Given the description of an element on the screen output the (x, y) to click on. 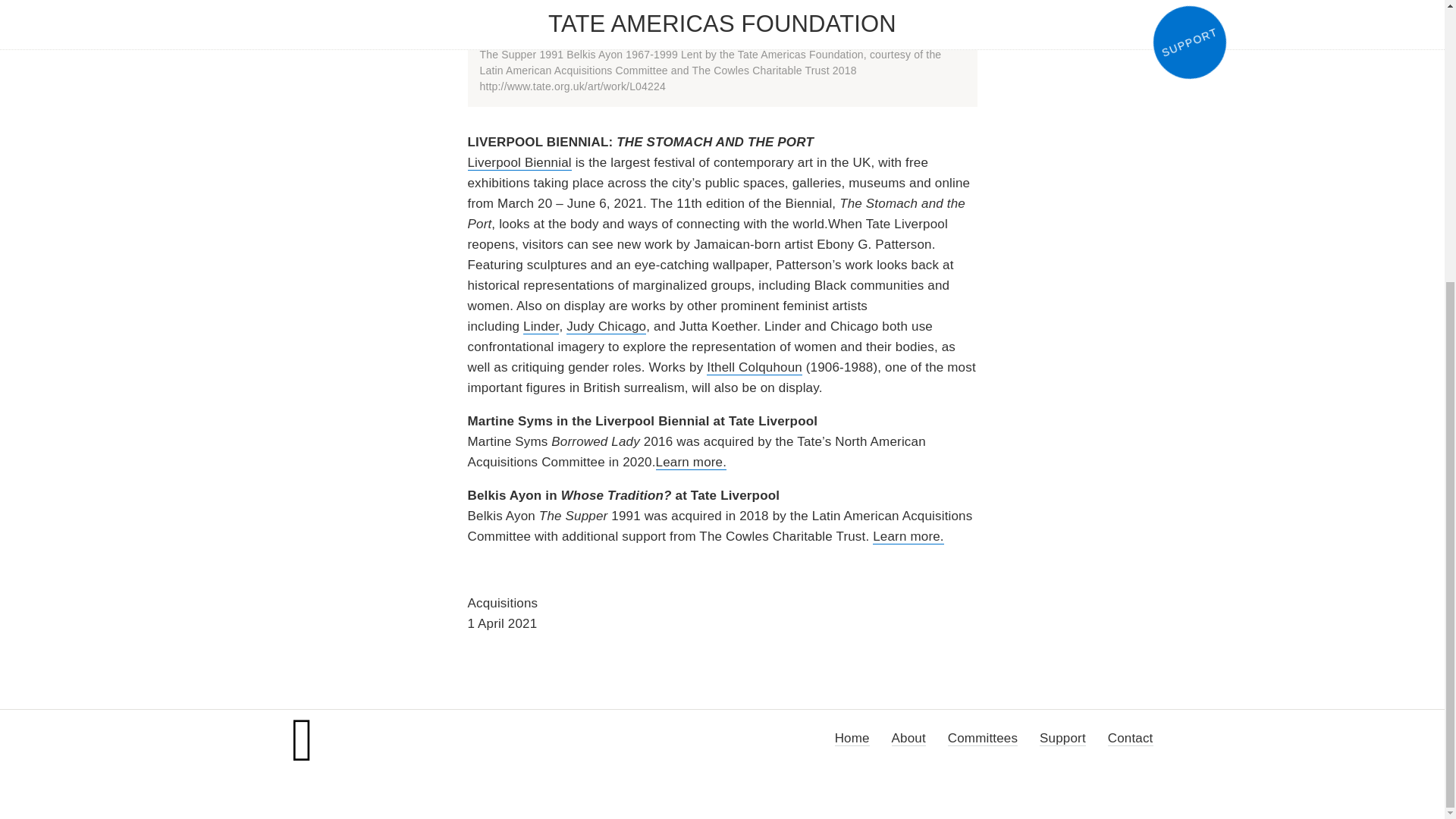
Support (1062, 738)
Contact (1130, 738)
Learn more. (691, 462)
Home (851, 738)
Learn more. (907, 536)
About (908, 738)
Linder (540, 326)
Liverpool Biennial (518, 162)
Ithell Colquhoun (754, 367)
Committees (982, 738)
Judy Chicago (606, 326)
